Given the description of an element on the screen output the (x, y) to click on. 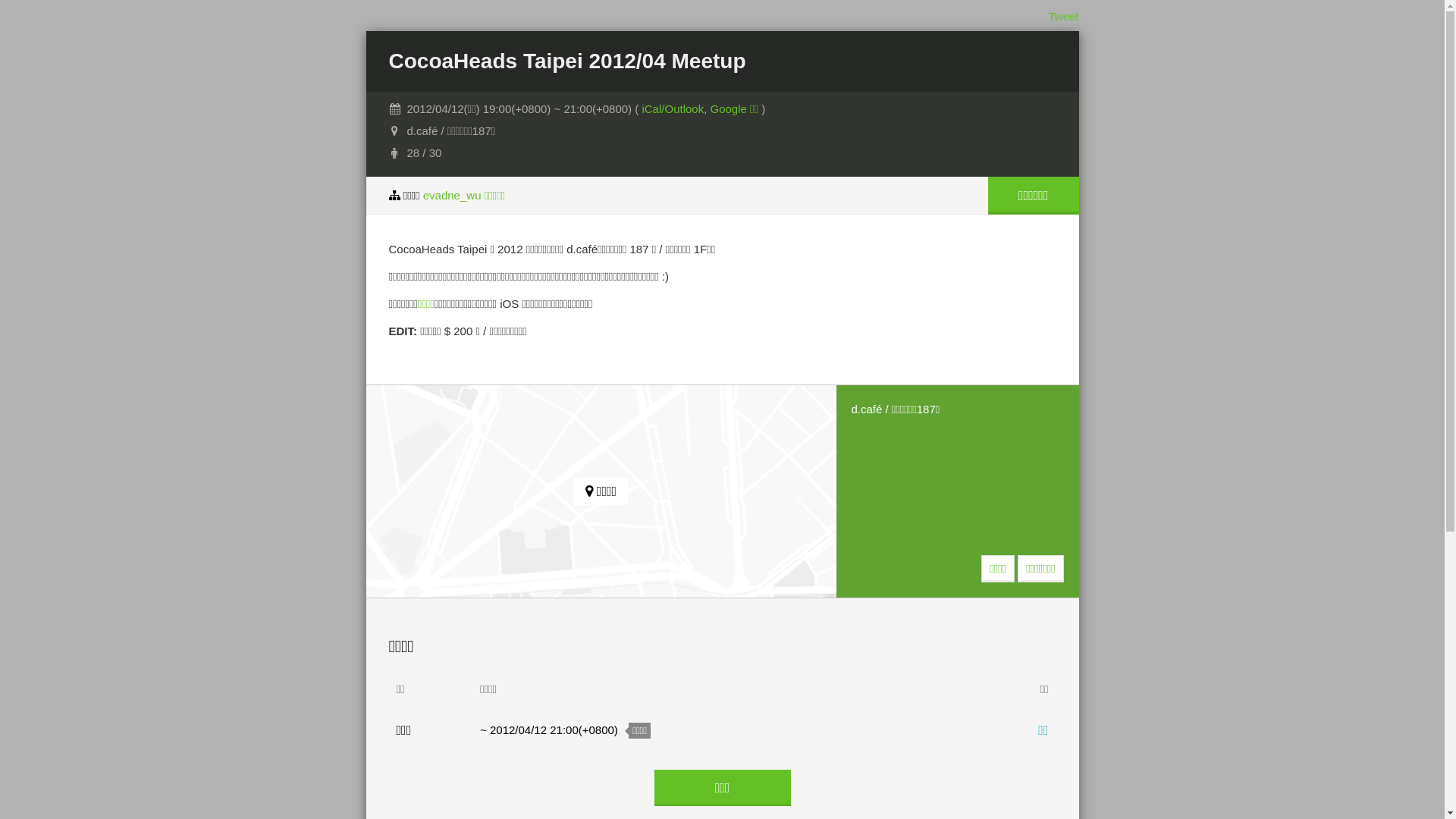
iCal/Outlook Element type: text (672, 108)
Tweet Element type: text (1063, 15)
